Given the description of an element on the screen output the (x, y) to click on. 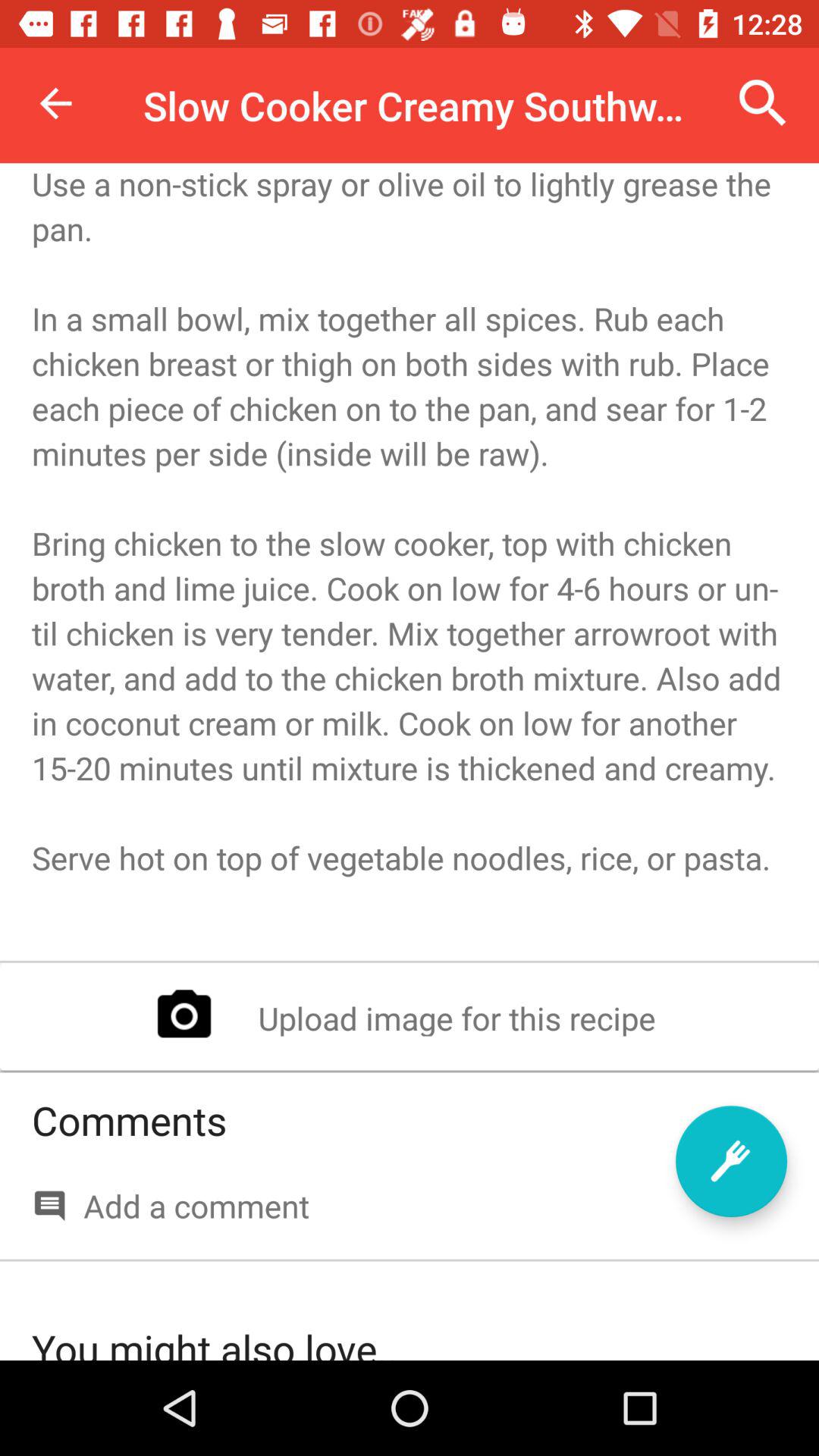
open the icon to the left of slow cooker creamy icon (55, 103)
